Given the description of an element on the screen output the (x, y) to click on. 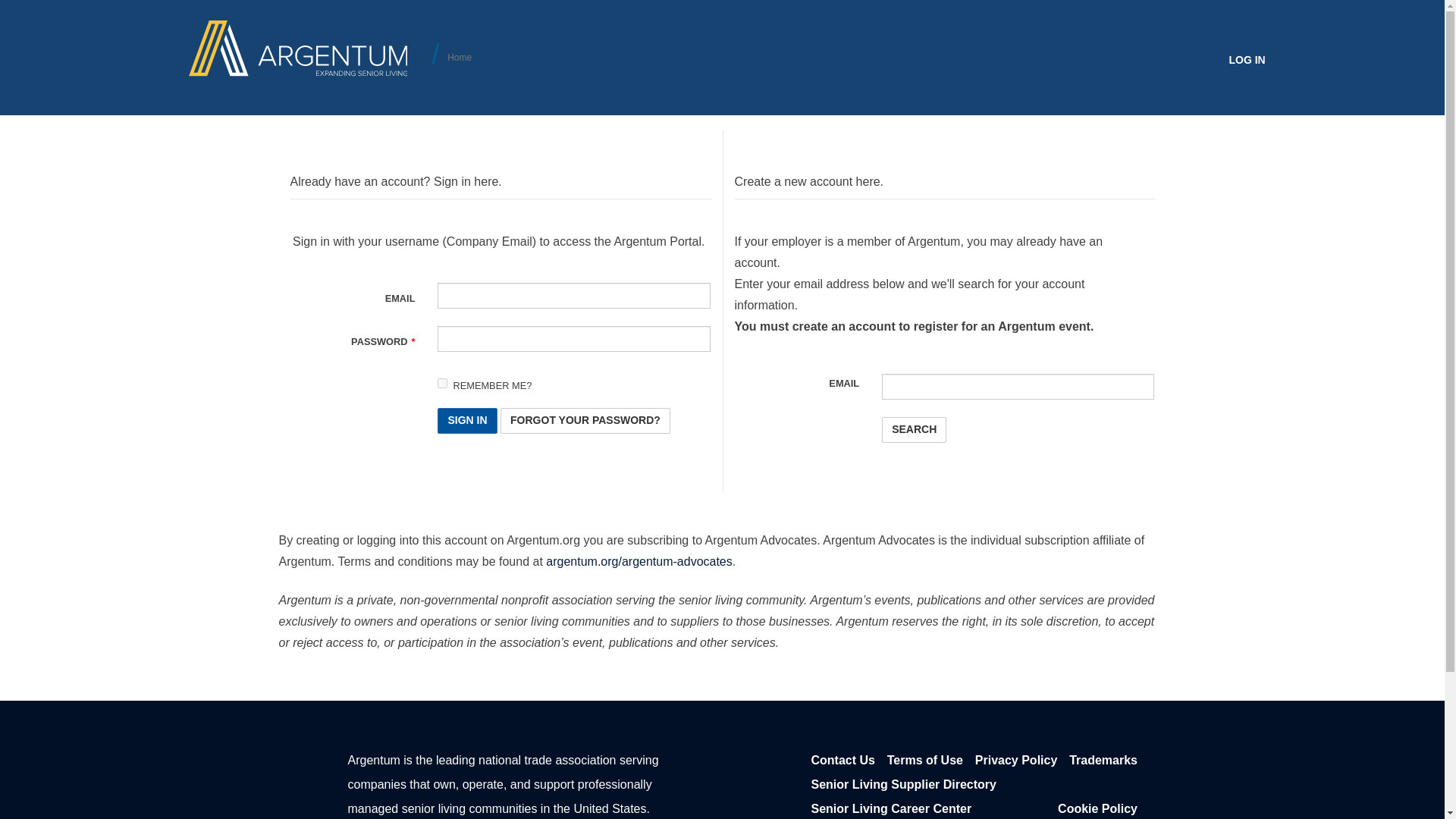
Senior Living Supplier Directory (903, 784)
Trademarks (1102, 760)
Terms of Use (924, 760)
true (442, 383)
Sign In (467, 420)
Forgot Your Password? (584, 420)
LOG IN (1247, 59)
Contact Us (842, 760)
SEARCH (914, 429)
Privacy Policy (1016, 760)
Cookie Policy (1097, 807)
SIGN IN (467, 420)
FORGOT YOUR PASSWORD? (584, 420)
Search (914, 429)
Senior Living Career Center (891, 807)
